Given the description of an element on the screen output the (x, y) to click on. 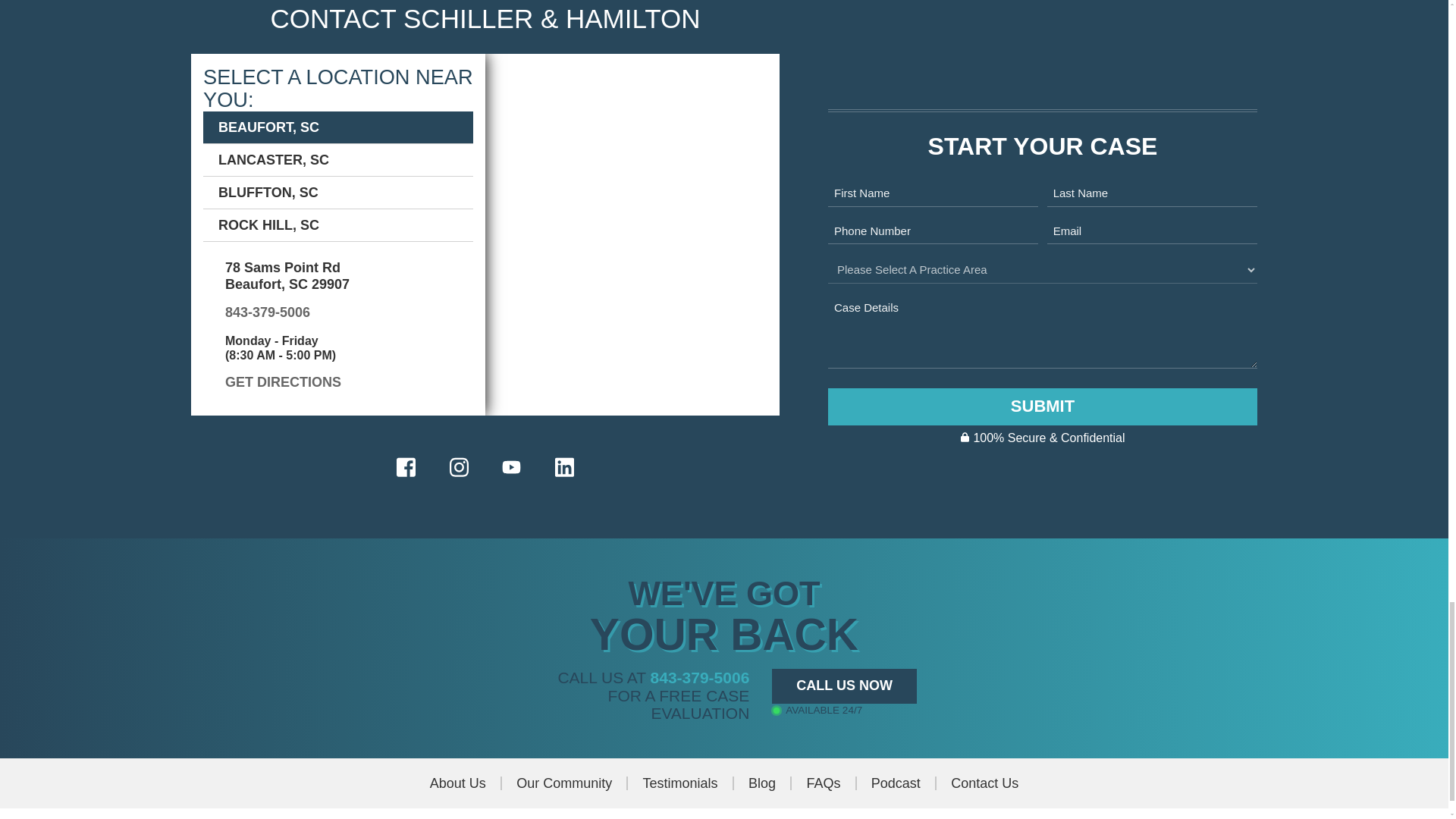
Instagram (458, 467)
LinkedIn (564, 467)
Facebook (406, 467)
Youtube (510, 467)
